Given the description of an element on the screen output the (x, y) to click on. 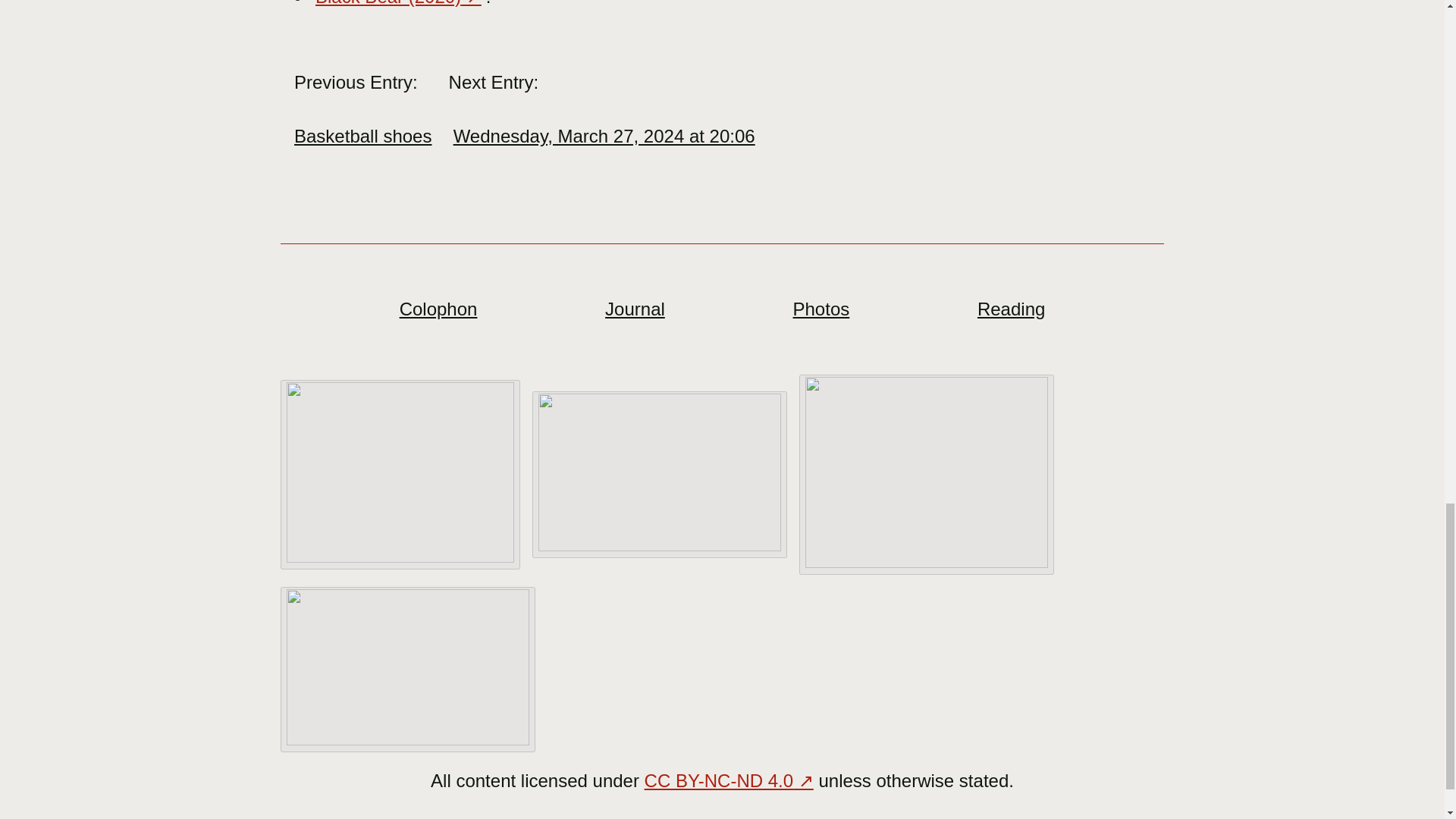
Nike ID Kobe 5 theme. (926, 474)
Journal (635, 308)
Nike Hyperdunk 2014 theme. (408, 669)
CC BY-NC-ND 4.0 (729, 780)
Colophon (437, 308)
AND1 Open Run theme. (400, 474)
Basketball shoes (365, 137)
Wednesday, March 27, 2024 at 20:06 (604, 137)
Photos (821, 308)
Reading (1010, 308)
